Given the description of an element on the screen output the (x, y) to click on. 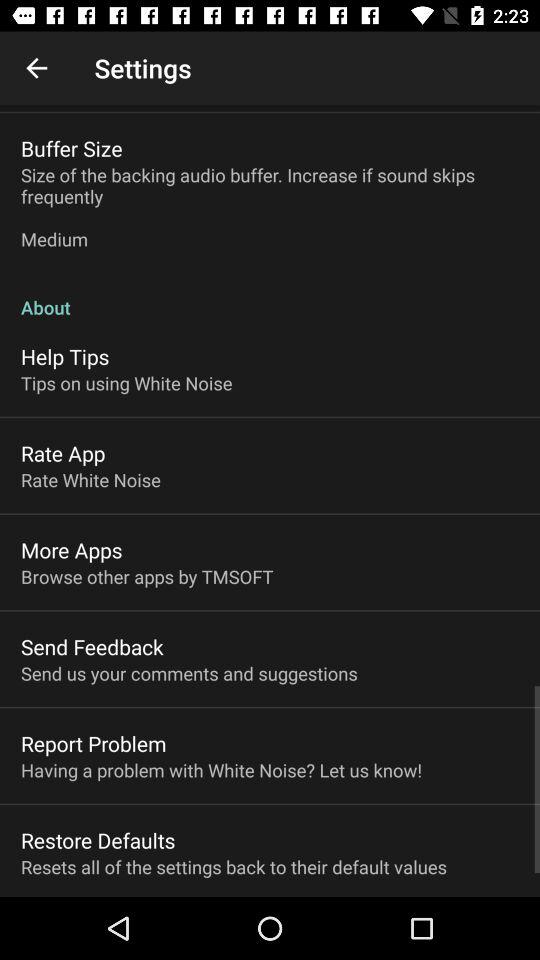
turn on item above browse other apps icon (71, 549)
